Given the description of an element on the screen output the (x, y) to click on. 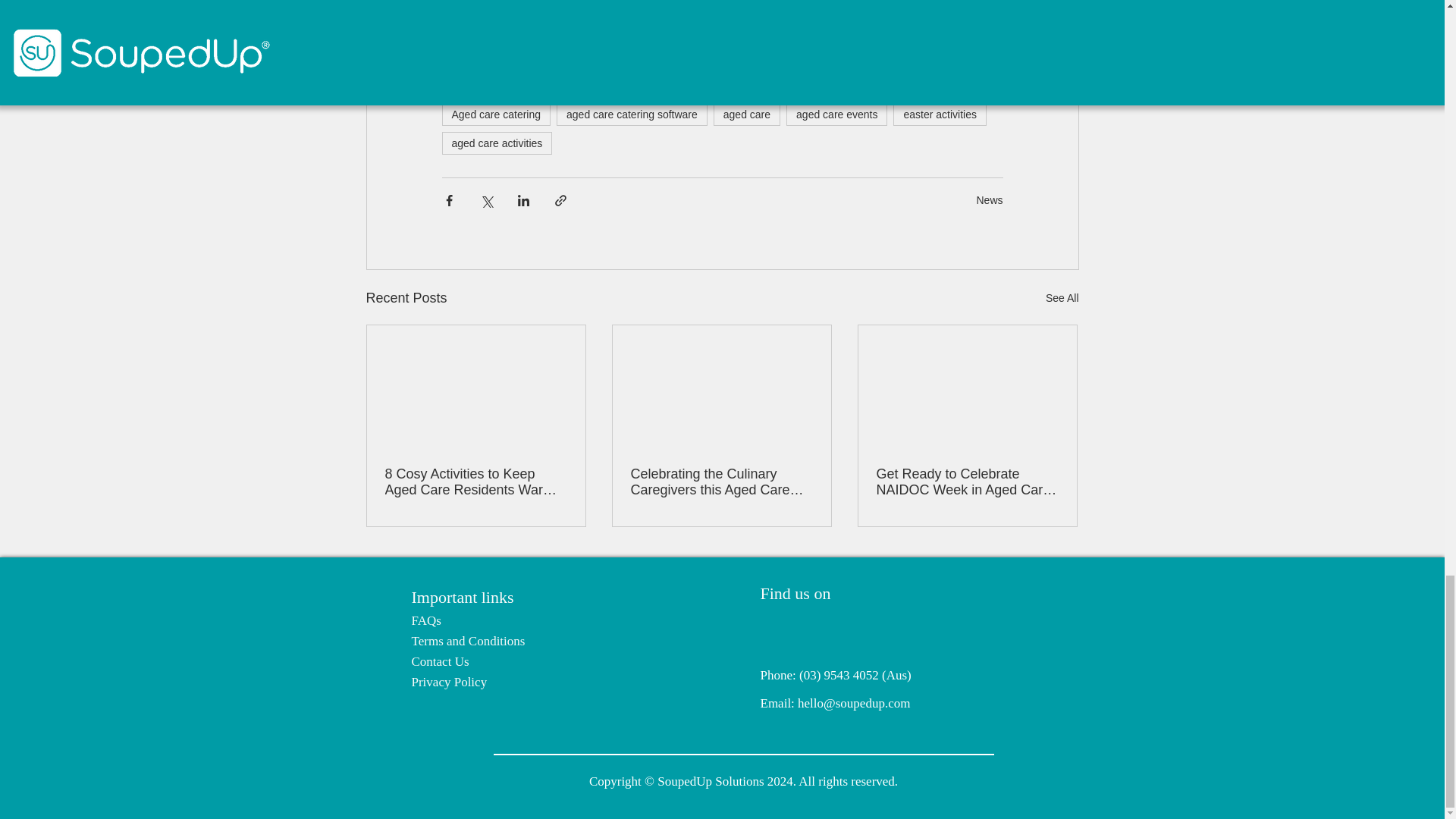
Terms and Conditions (467, 640)
aged care catering software (631, 114)
FAQs (425, 620)
easter activities (939, 114)
aged care activities (496, 142)
See All (1061, 298)
Contact Us (439, 661)
aged care events (836, 114)
Events module (881, 43)
Aged care catering (495, 114)
News (989, 200)
Privacy Policy (448, 681)
